Given the description of an element on the screen output the (x, y) to click on. 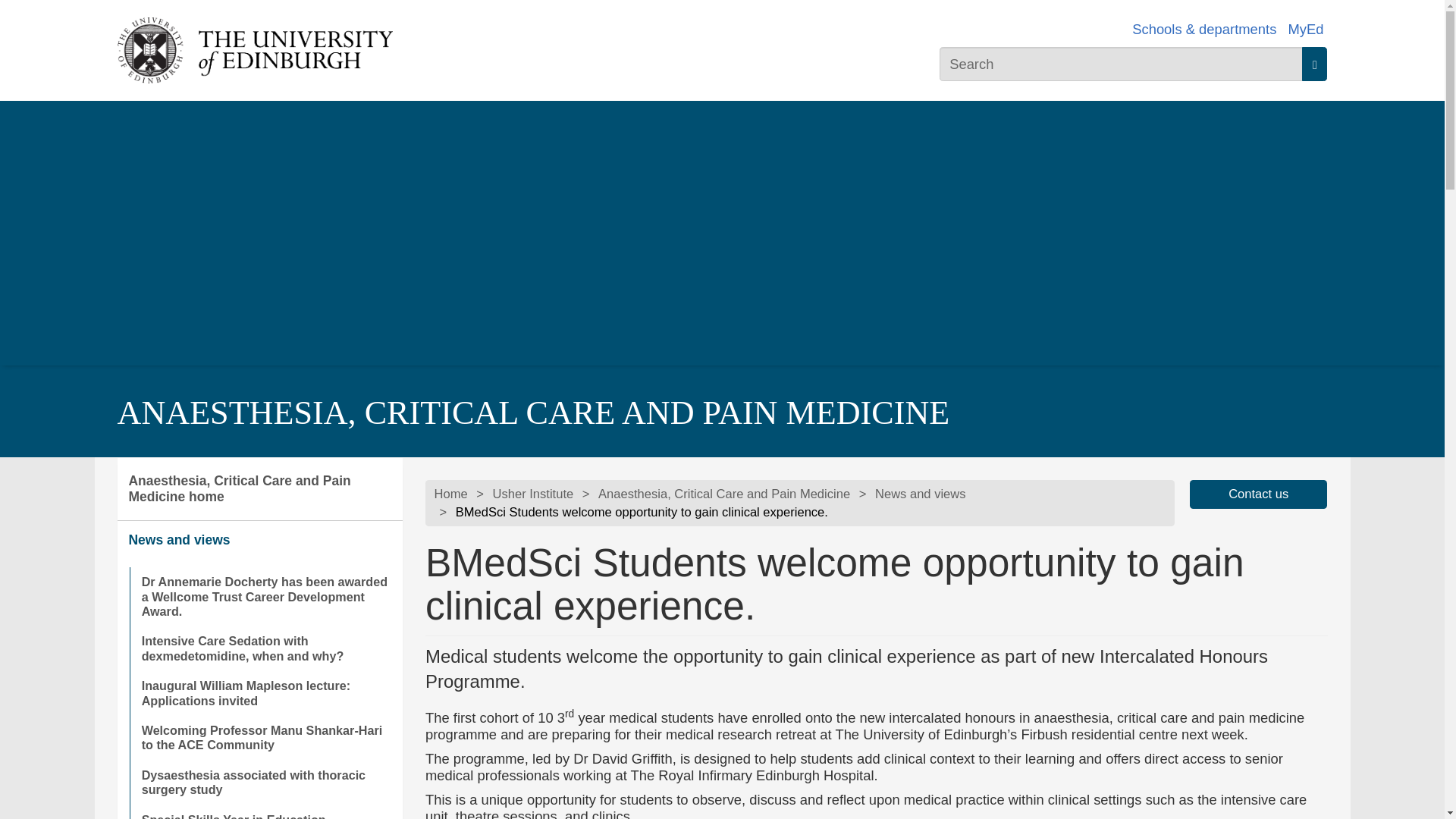
News and views (259, 539)
Anaesthesia, Critical Care and Pain Medicine home (259, 488)
ANAESTHESIA, CRITICAL CARE AND PAIN MEDICINE (532, 412)
MyEd (1305, 28)
Welcoming Professor Manu Shankar-Hari to the ACE Community (266, 737)
Inaugural William Mapleson lecture: Applications invited (266, 692)
Special Skills Year in Education (266, 812)
Intensive Care Sedation with dexmedetomidine, when and why? (266, 648)
Dysaesthesia associated with thoracic surgery study (266, 782)
